Given the description of an element on the screen output the (x, y) to click on. 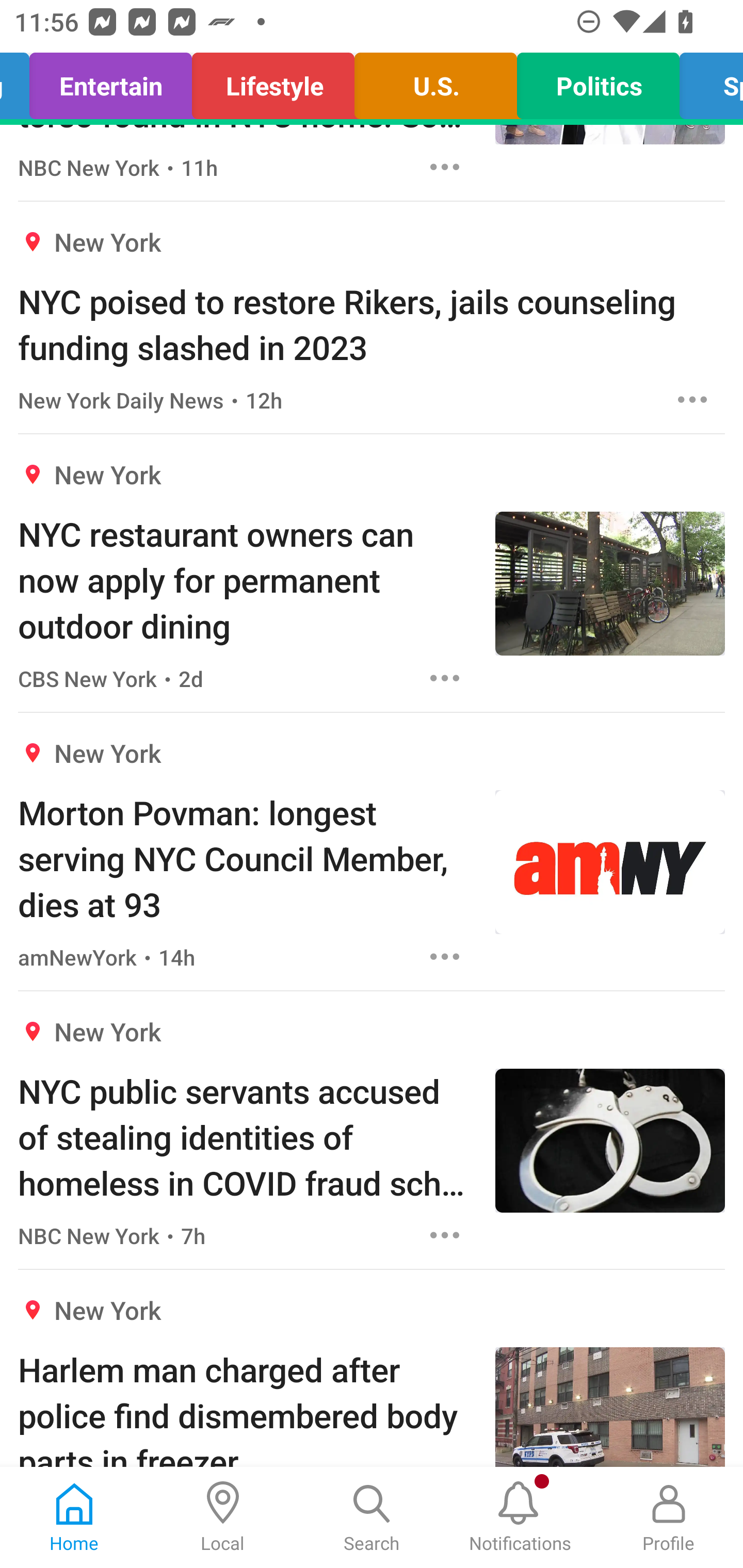
Entertain (110, 81)
Lifestyle (273, 81)
U.S. (435, 81)
Politics (597, 81)
Options (444, 166)
Options (692, 399)
Options (444, 677)
Options (444, 956)
Options (444, 1235)
Local (222, 1517)
Search (371, 1517)
Notifications, New notification Notifications (519, 1517)
Profile (668, 1517)
